Given the description of an element on the screen output the (x, y) to click on. 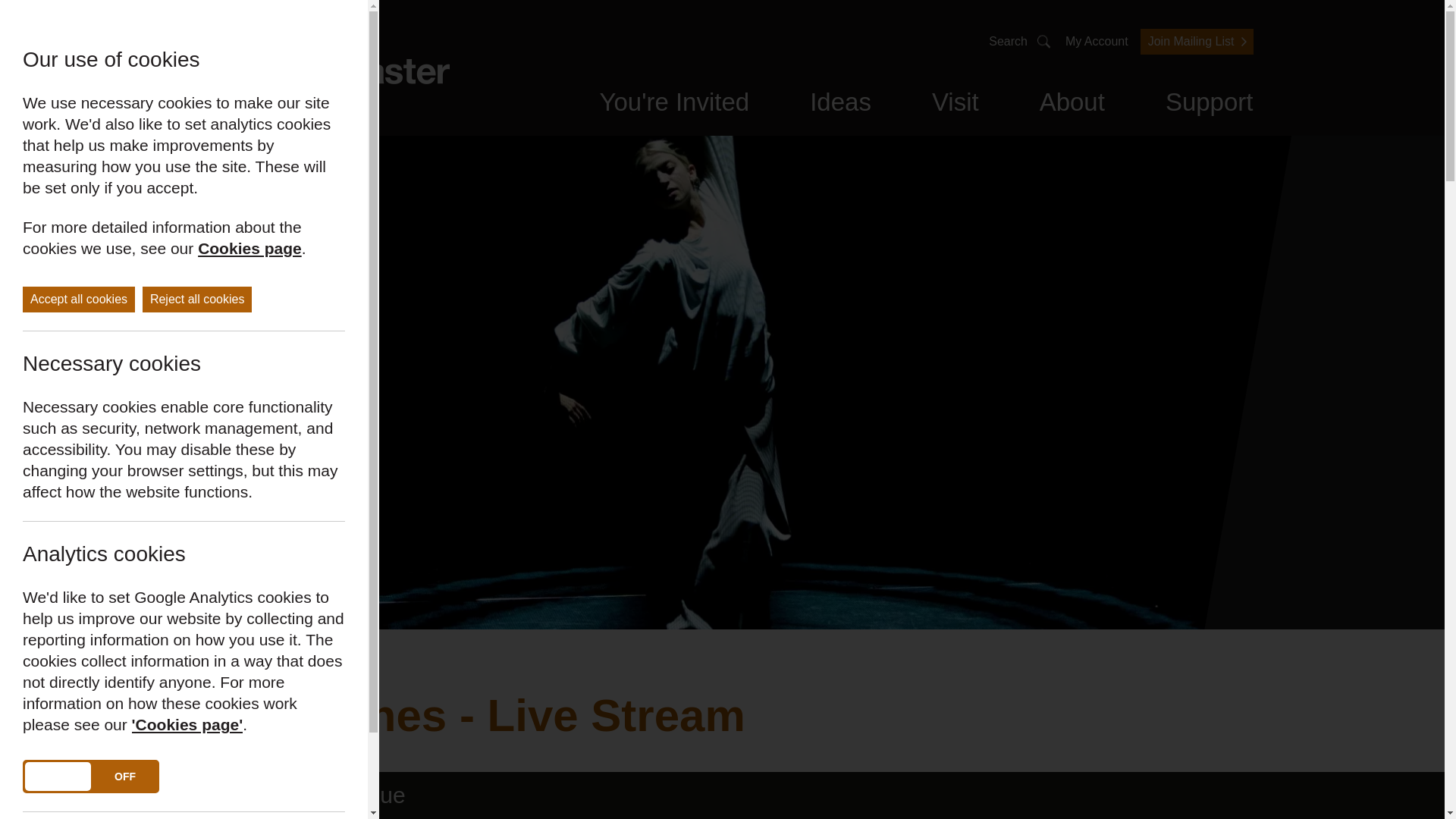
Accept all cookies (79, 299)
Archive (1004, 107)
About Your Visit (898, 107)
What's On (570, 107)
Friends Voices (615, 107)
'Cookies page' (187, 724)
My Account (1096, 41)
Gift Vouchers (738, 107)
Access (1032, 107)
For Artists (893, 107)
